Given the description of an element on the screen output the (x, y) to click on. 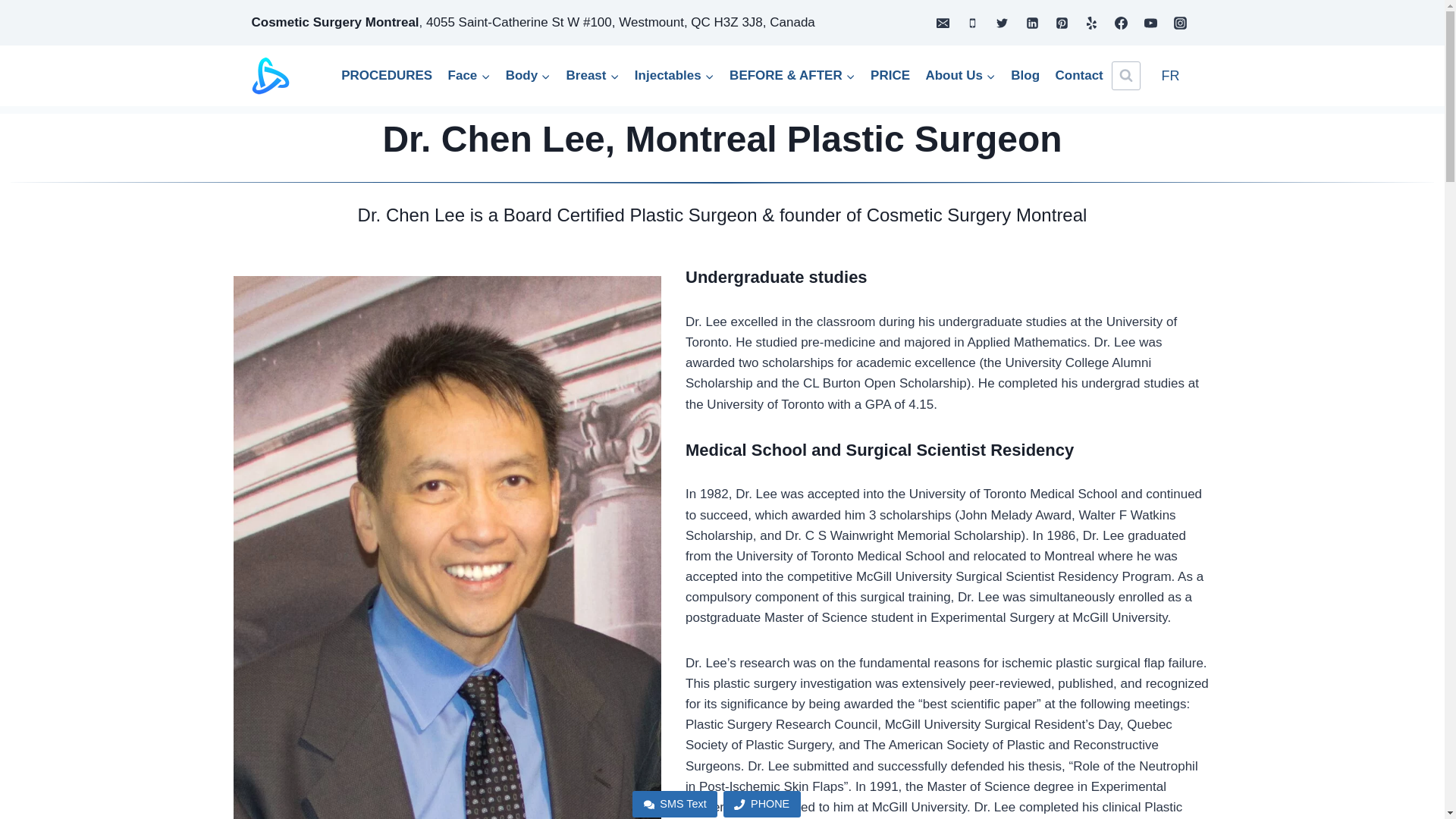
PROCEDURES (386, 75)
Body (527, 75)
Breast (591, 75)
Cosmetic Surgery Montreal (335, 22)
Injectables (674, 75)
Face (468, 75)
